Given the description of an element on the screen output the (x, y) to click on. 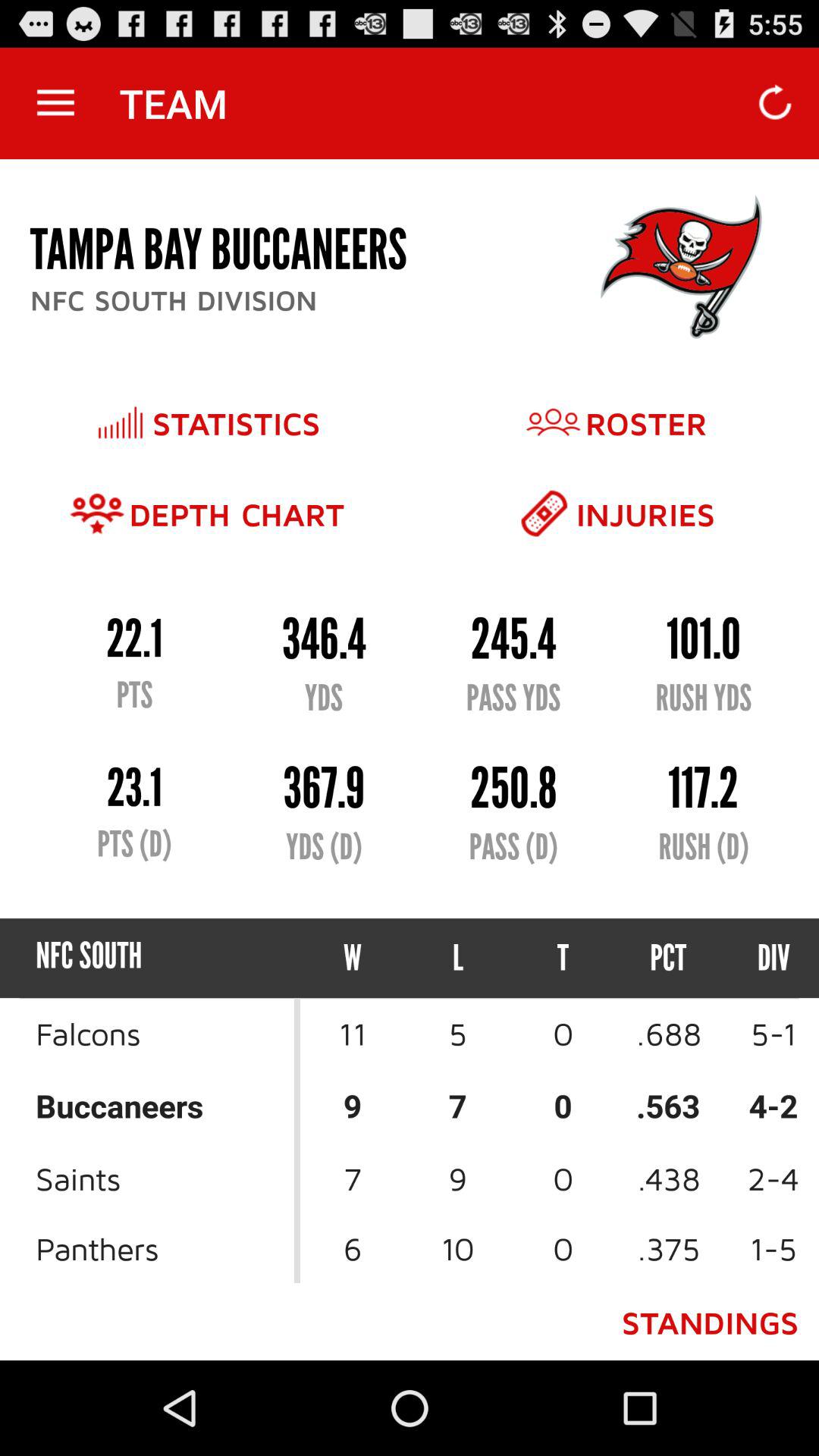
press icon to the left of div (668, 958)
